Given the description of an element on the screen output the (x, y) to click on. 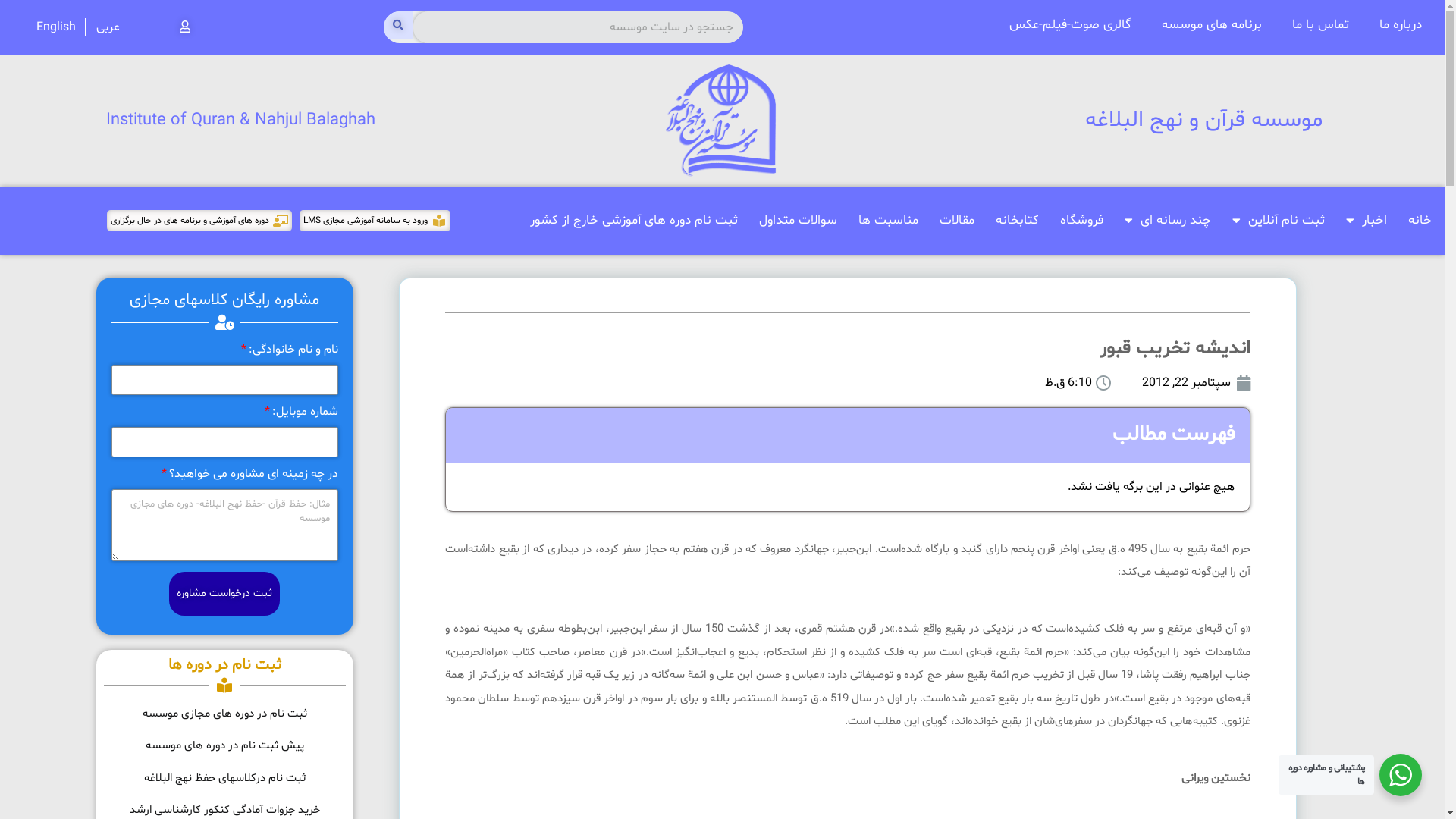
English Element type: text (55, 27)
